Given the description of an element on the screen output the (x, y) to click on. 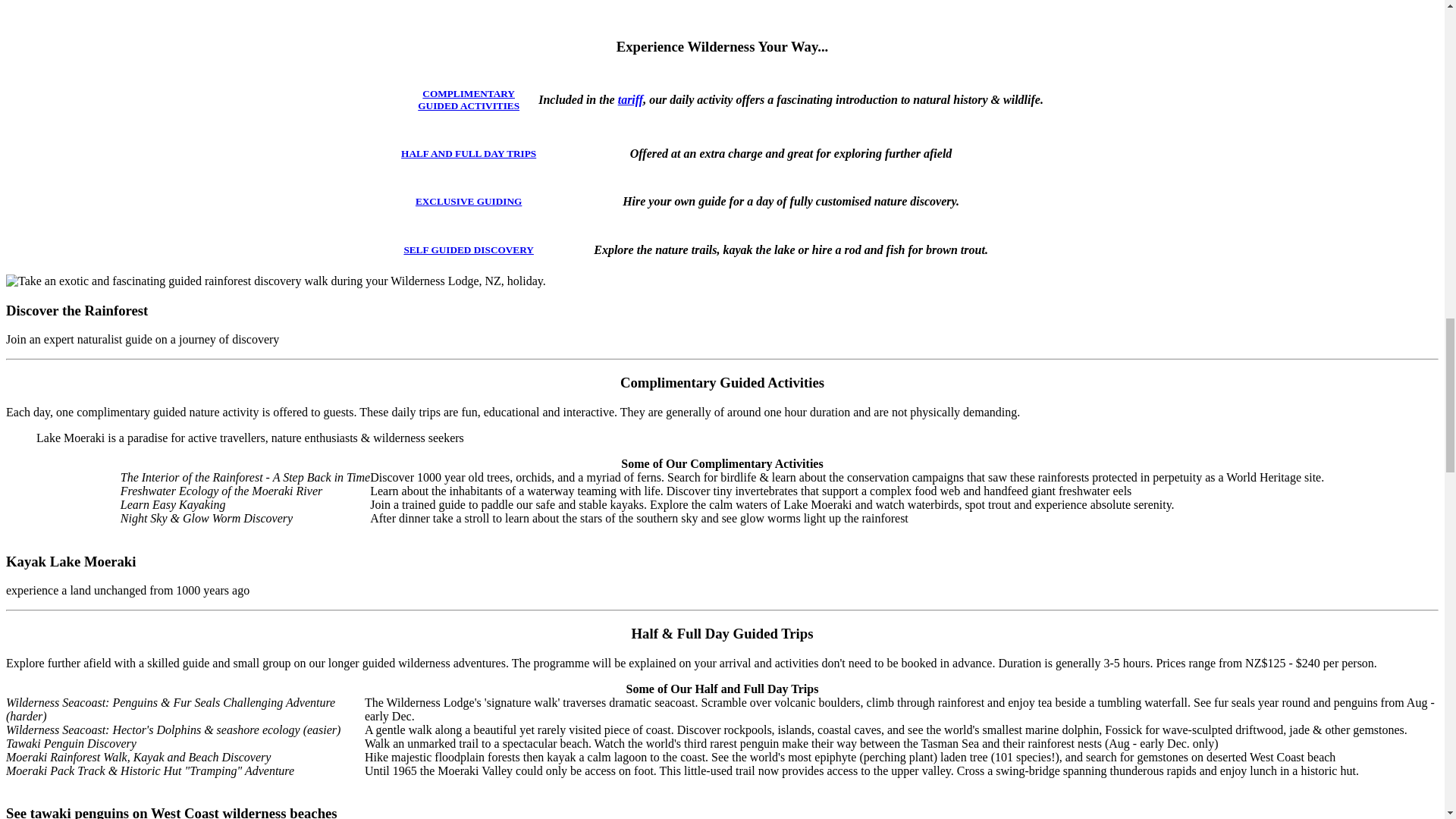
Complimentary Guided Activities (468, 153)
Lake Moeraki Rates (630, 99)
self guided discovery (468, 249)
exclusive guiding (467, 201)
Complimentary Guided Activities (468, 99)
